Given the description of an element on the screen output the (x, y) to click on. 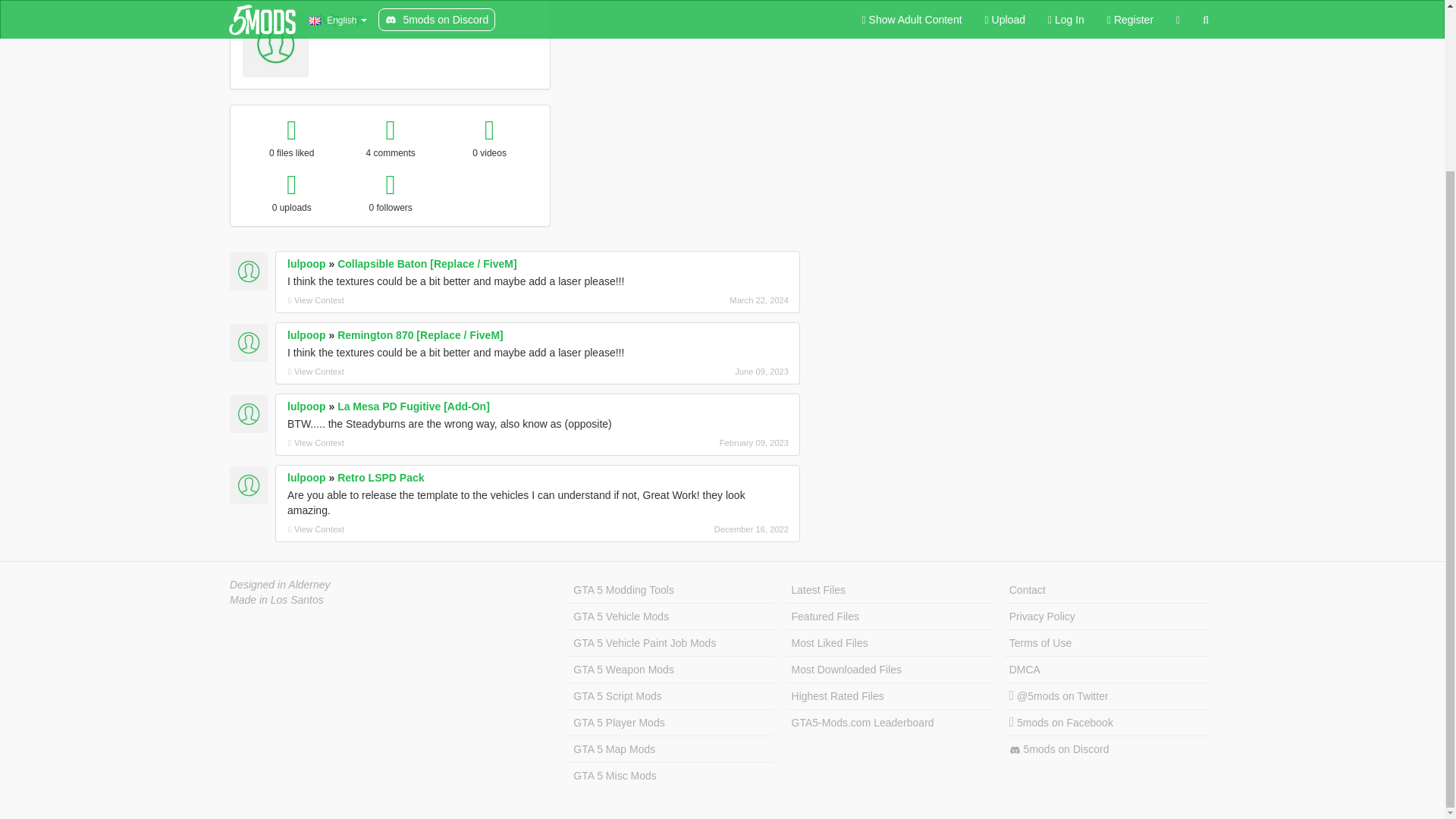
5mods on Facebook (1106, 723)
5mods on Discord (1106, 749)
